Given the description of an element on the screen output the (x, y) to click on. 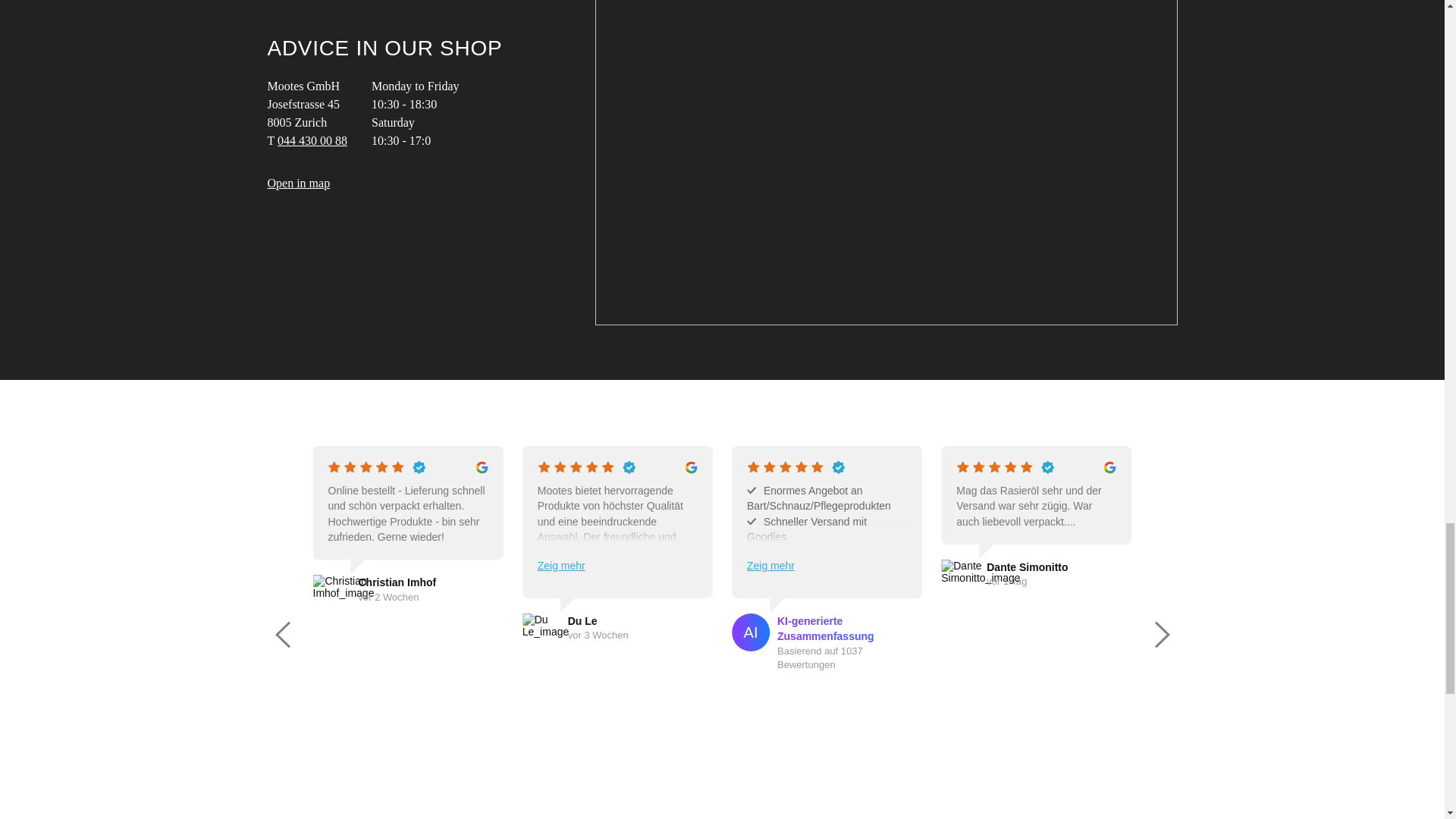
Open in map (298, 182)
